Given the description of an element on the screen output the (x, y) to click on. 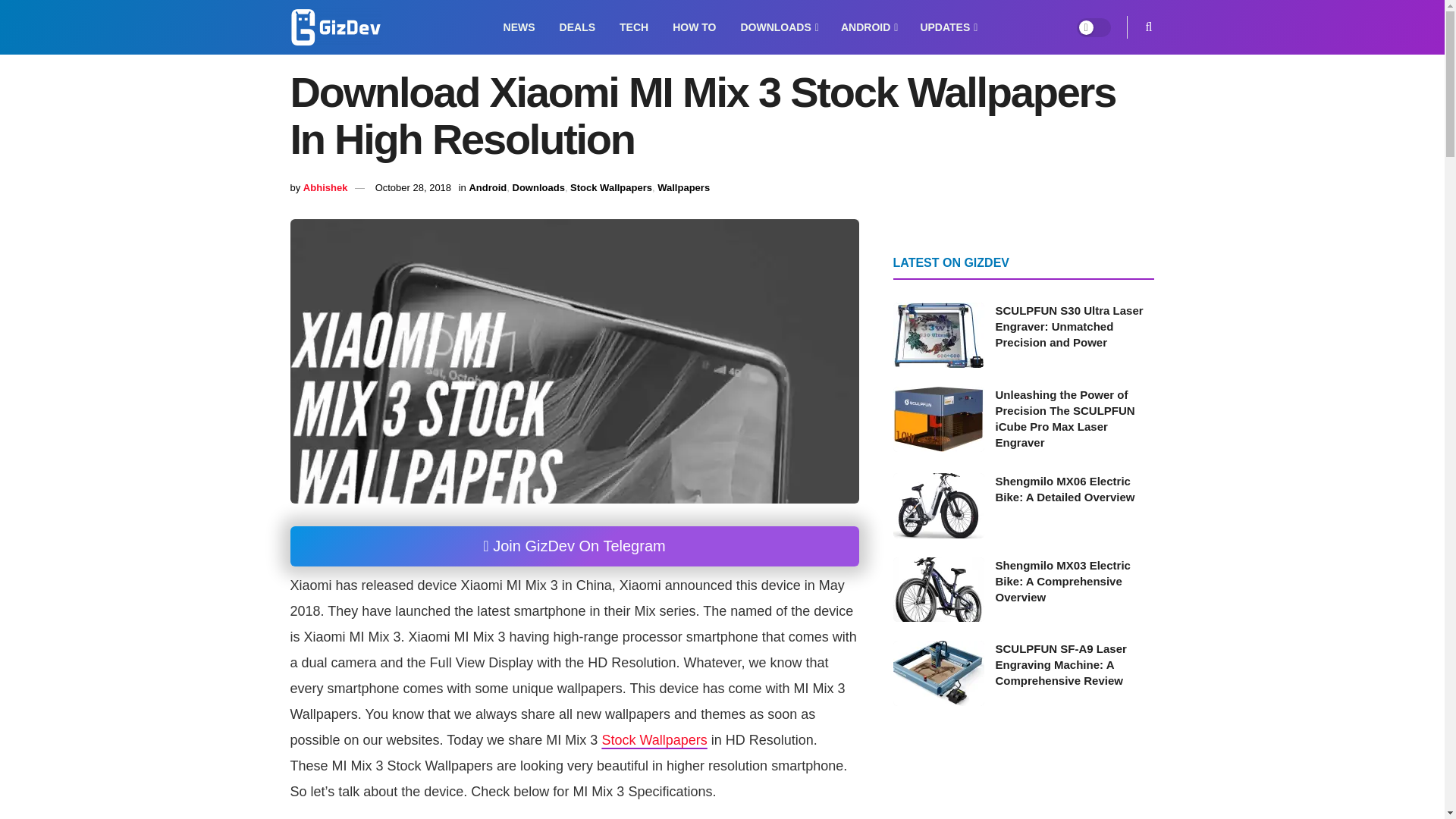
Join GizDev On Telegram (574, 546)
NEWS (519, 27)
TECH (634, 27)
Wallpapers (684, 187)
Android (487, 187)
DOWNLOADS (778, 27)
Stock Wallpapers (653, 739)
ANDROID (867, 27)
Stock Wallpapers (653, 739)
October 28, 2018 (413, 187)
